Given the description of an element on the screen output the (x, y) to click on. 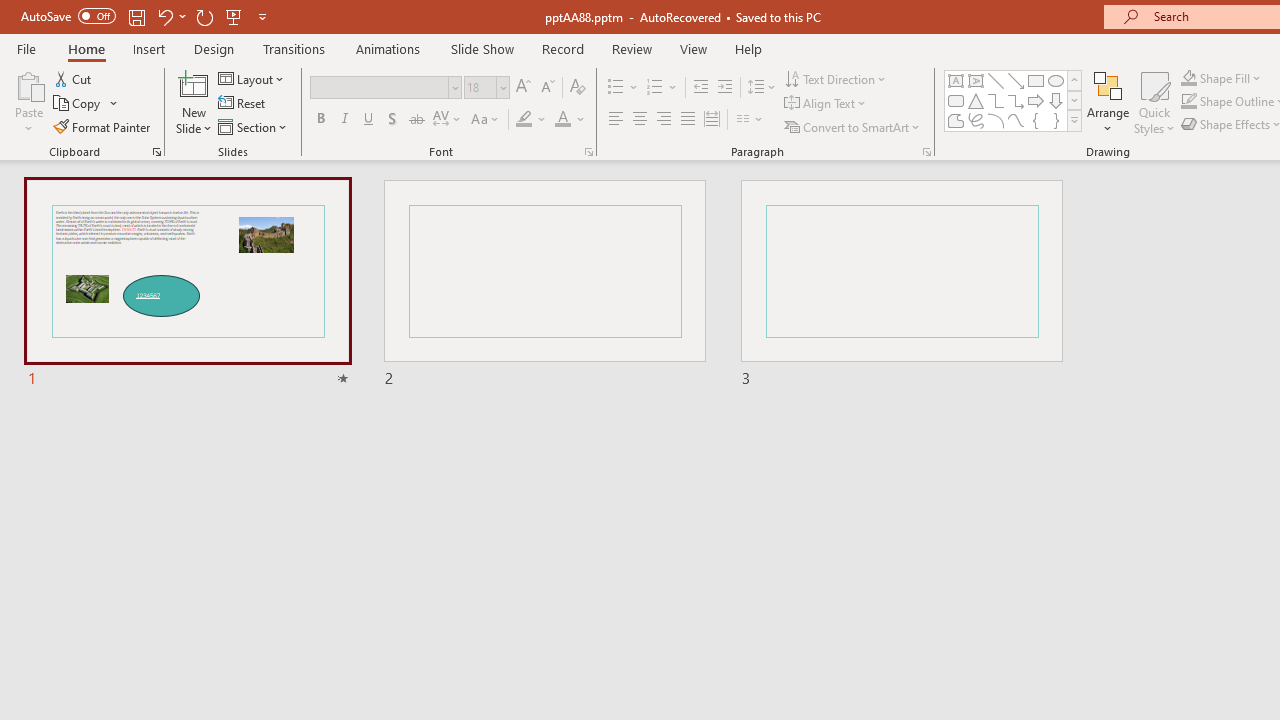
Row Down (1074, 100)
Paragraph... (926, 151)
Redo (204, 15)
Arrow: Right (1035, 100)
Format Painter (103, 126)
New Slide (193, 102)
Paste (28, 102)
Change Case (486, 119)
Reset (243, 103)
Shapes (1074, 120)
Bullets (616, 87)
Line Spacing (762, 87)
Cut (73, 78)
